Given the description of an element on the screen output the (x, y) to click on. 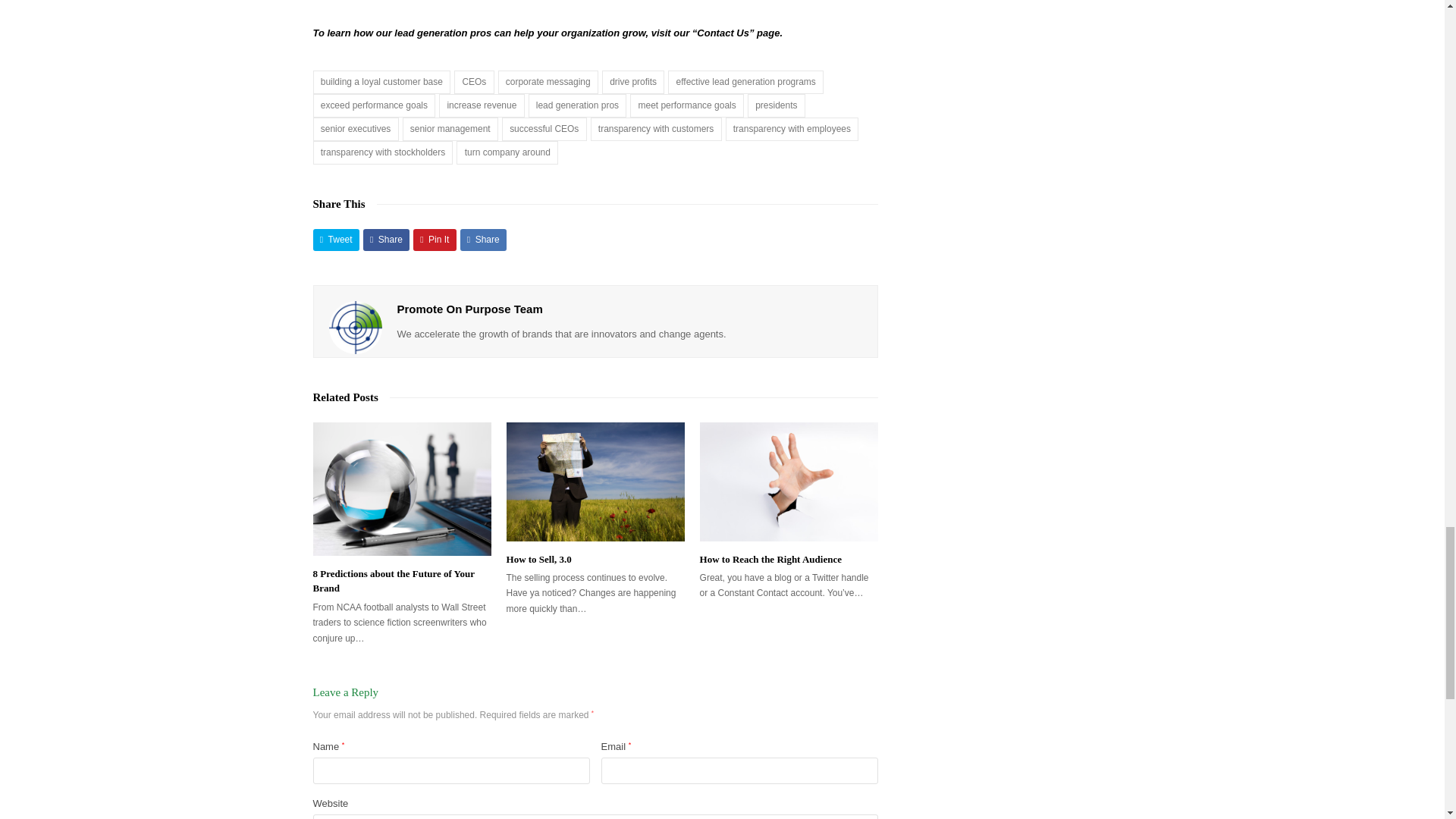
CEOs (473, 82)
effective lead generation programs (746, 82)
How to Reach the Right Audience (788, 481)
lead generation pros (577, 105)
transparency with employees (792, 128)
transparency with stockholders (382, 152)
Visit Author Page (355, 327)
senior executives (355, 128)
senior management (450, 128)
meet performance goals (687, 105)
